Given the description of an element on the screen output the (x, y) to click on. 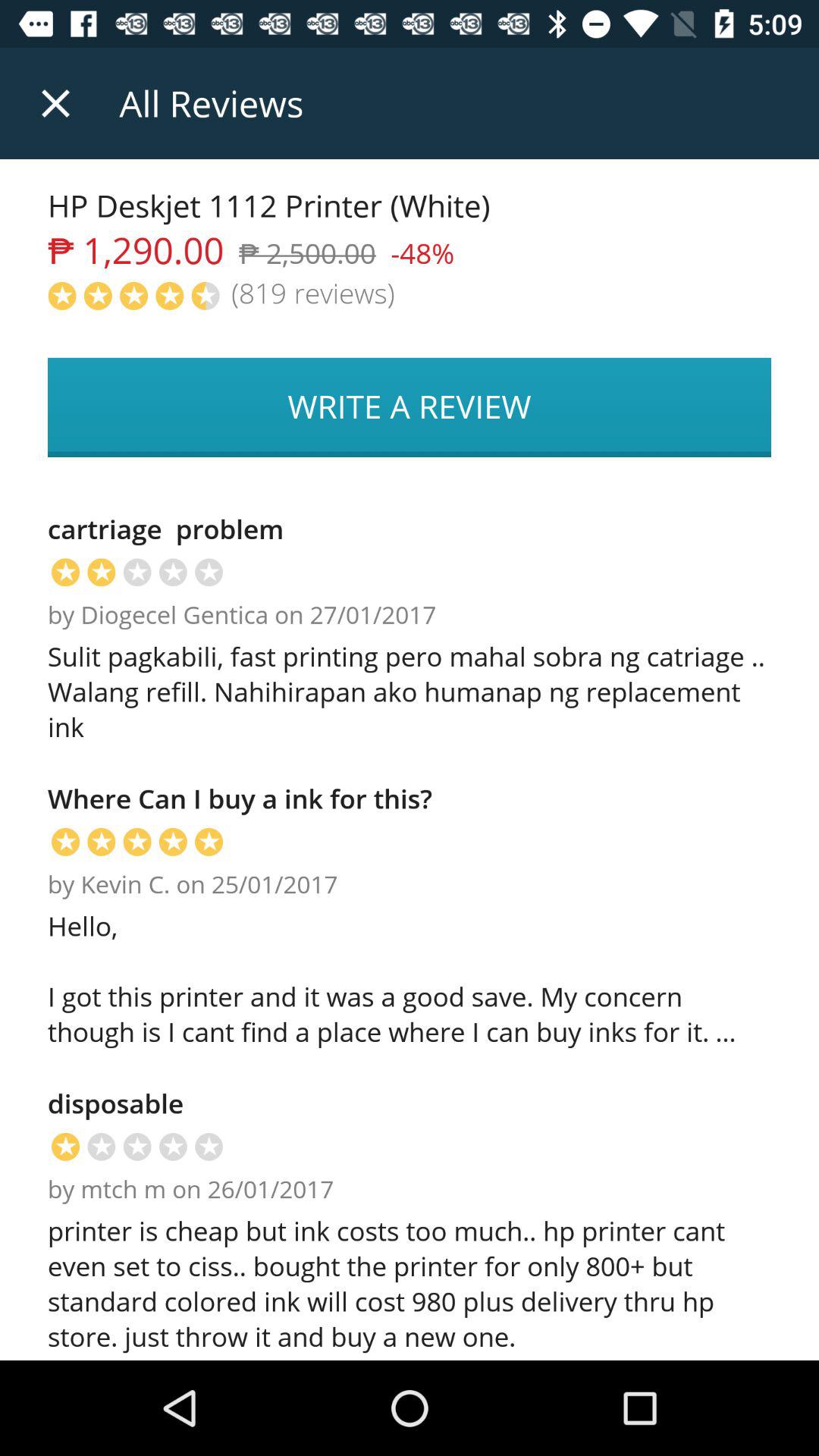
click the write a review icon (409, 407)
